Given the description of an element on the screen output the (x, y) to click on. 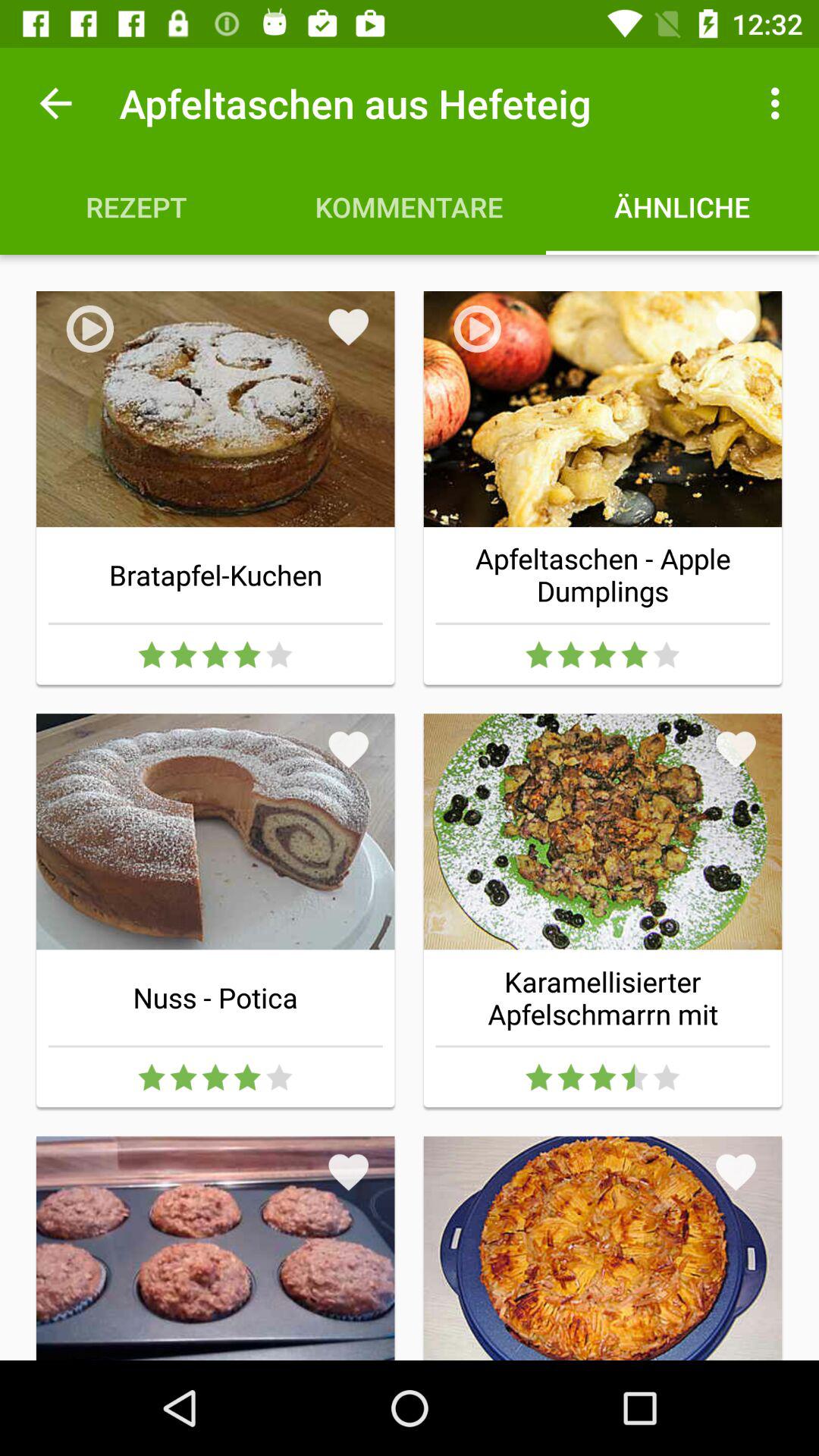
select the icon to the right of apfeltaschen aus hefeteig item (779, 103)
